Given the description of an element on the screen output the (x, y) to click on. 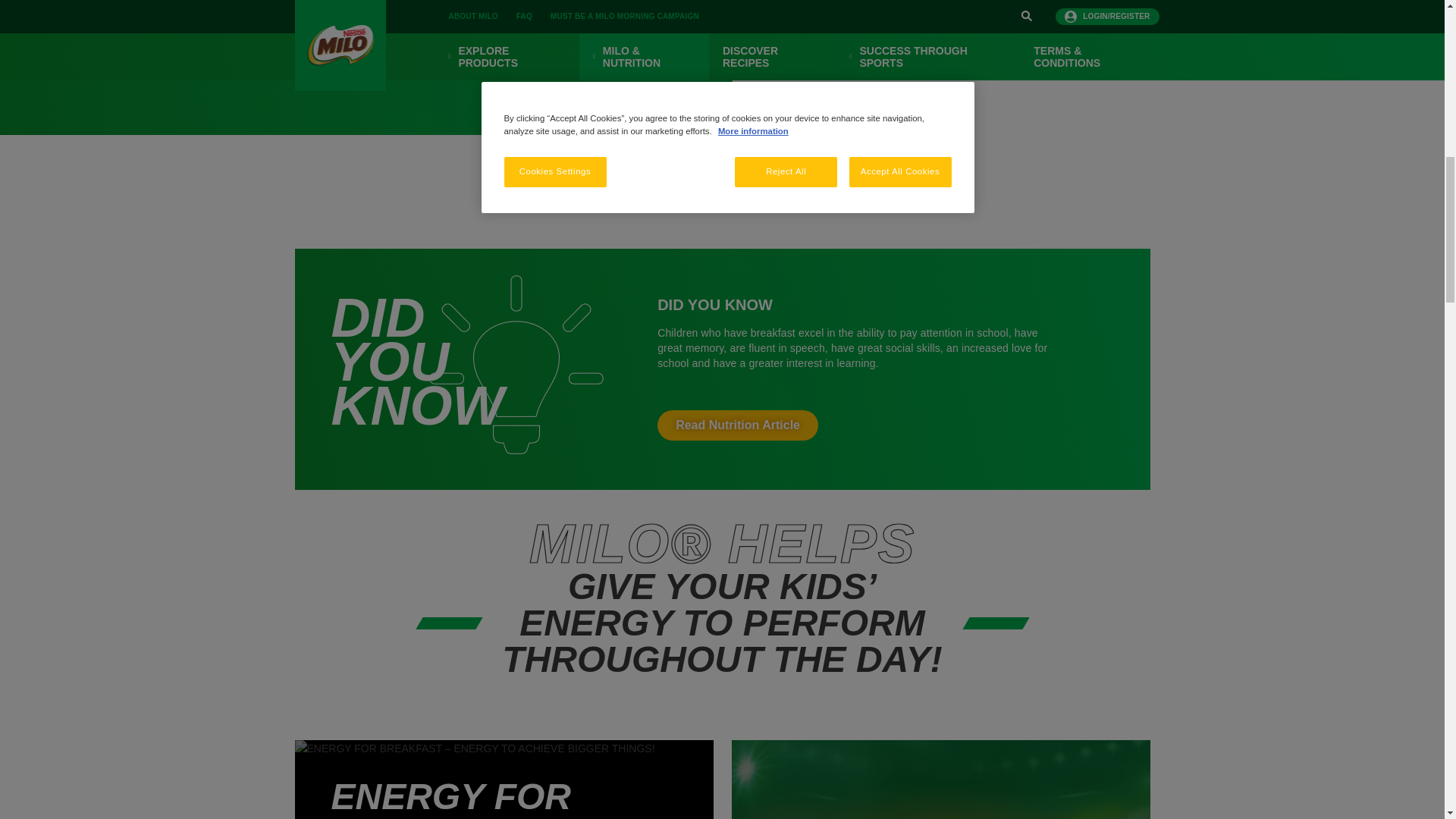
Read Nutrition Article (738, 425)
Read Nutrition Article (738, 425)
